Given the description of an element on the screen output the (x, y) to click on. 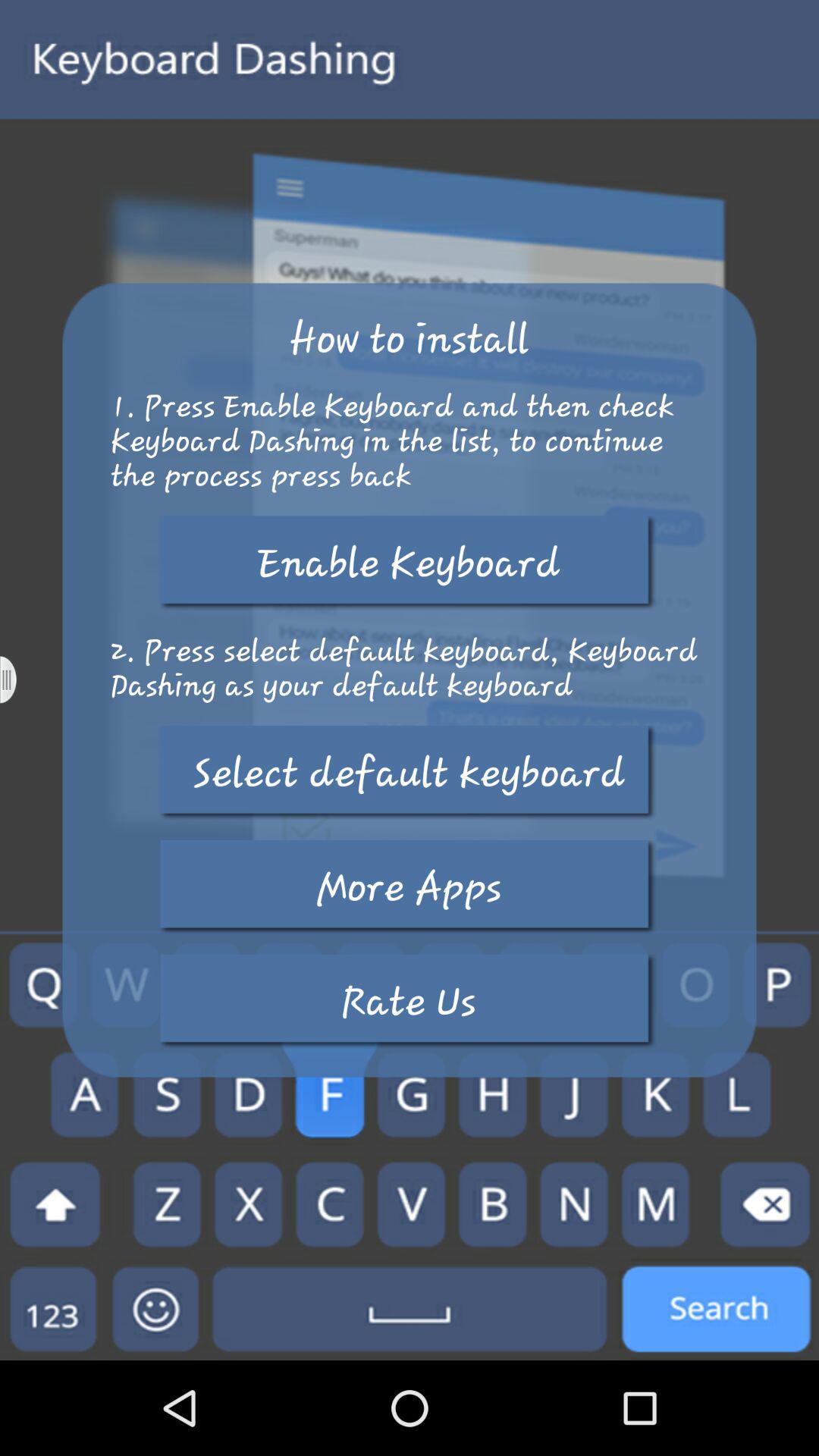
option (18, 679)
